Given the description of an element on the screen output the (x, y) to click on. 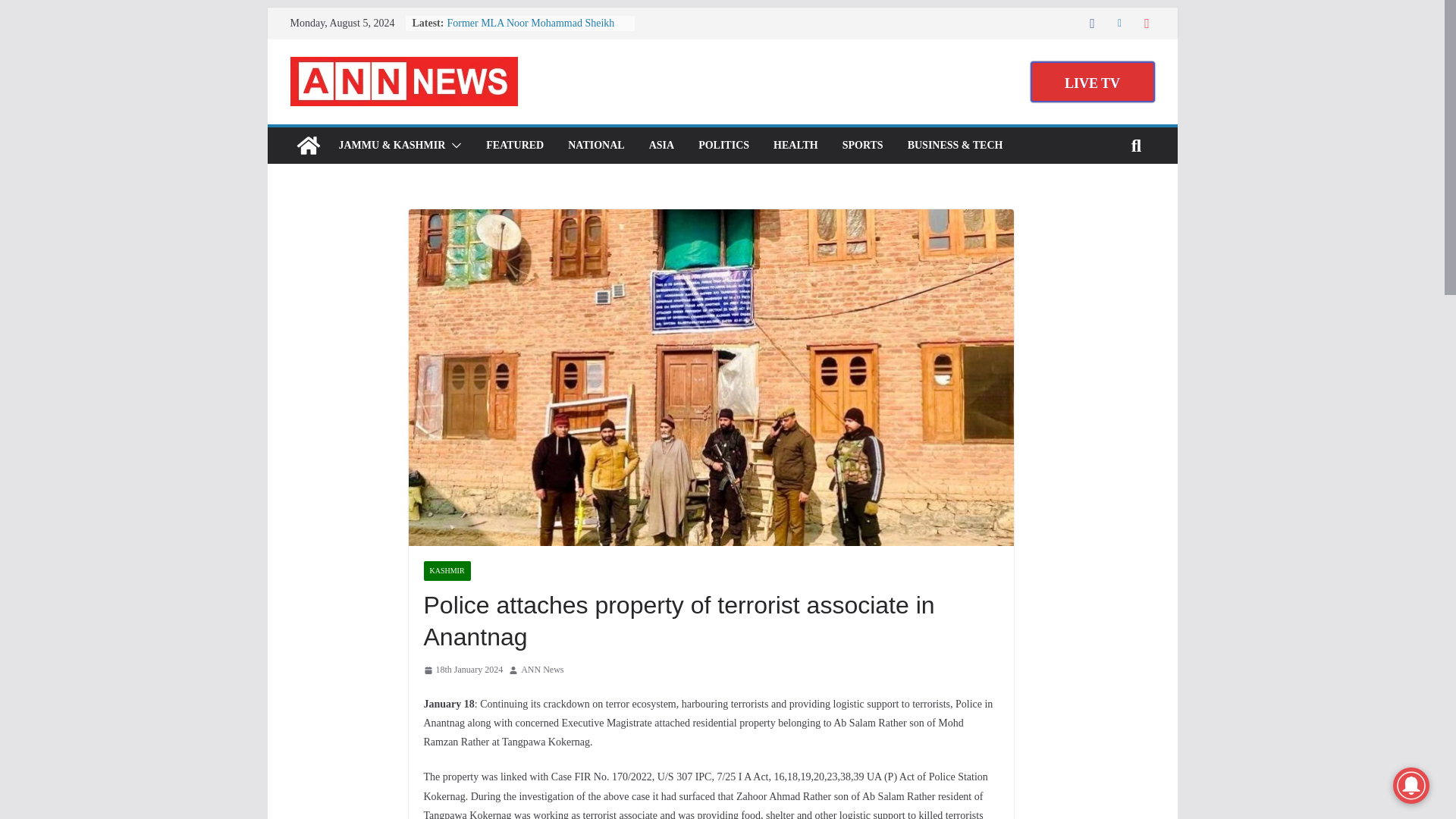
FEATURED (514, 145)
SPORTS (863, 145)
LIVE TV (1091, 81)
POLITICS (723, 145)
ANN News (542, 669)
KASHMIR (446, 570)
NATIONAL (595, 145)
18th January 2024 (462, 669)
ASIA (661, 145)
7:25 pm (462, 669)
HEALTH (795, 145)
ANN News (307, 145)
